Given the description of an element on the screen output the (x, y) to click on. 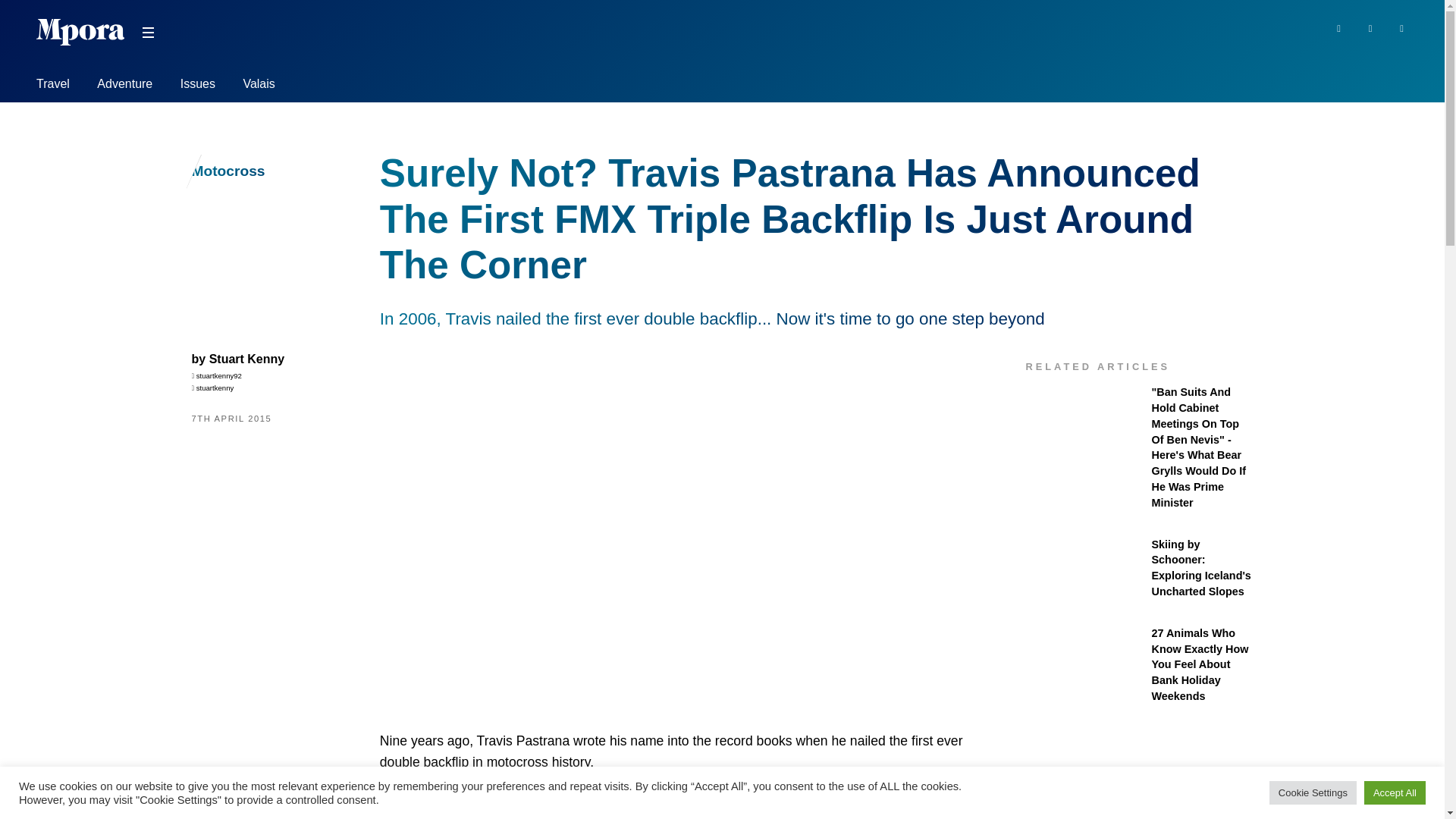
Valais (259, 85)
Find us on Instagram (1400, 27)
Menu (147, 32)
Issues (197, 85)
Adventure (124, 85)
Find us on Facebook (1338, 27)
Travel (52, 85)
Follow us on Twitter (1370, 27)
